Given the description of an element on the screen output the (x, y) to click on. 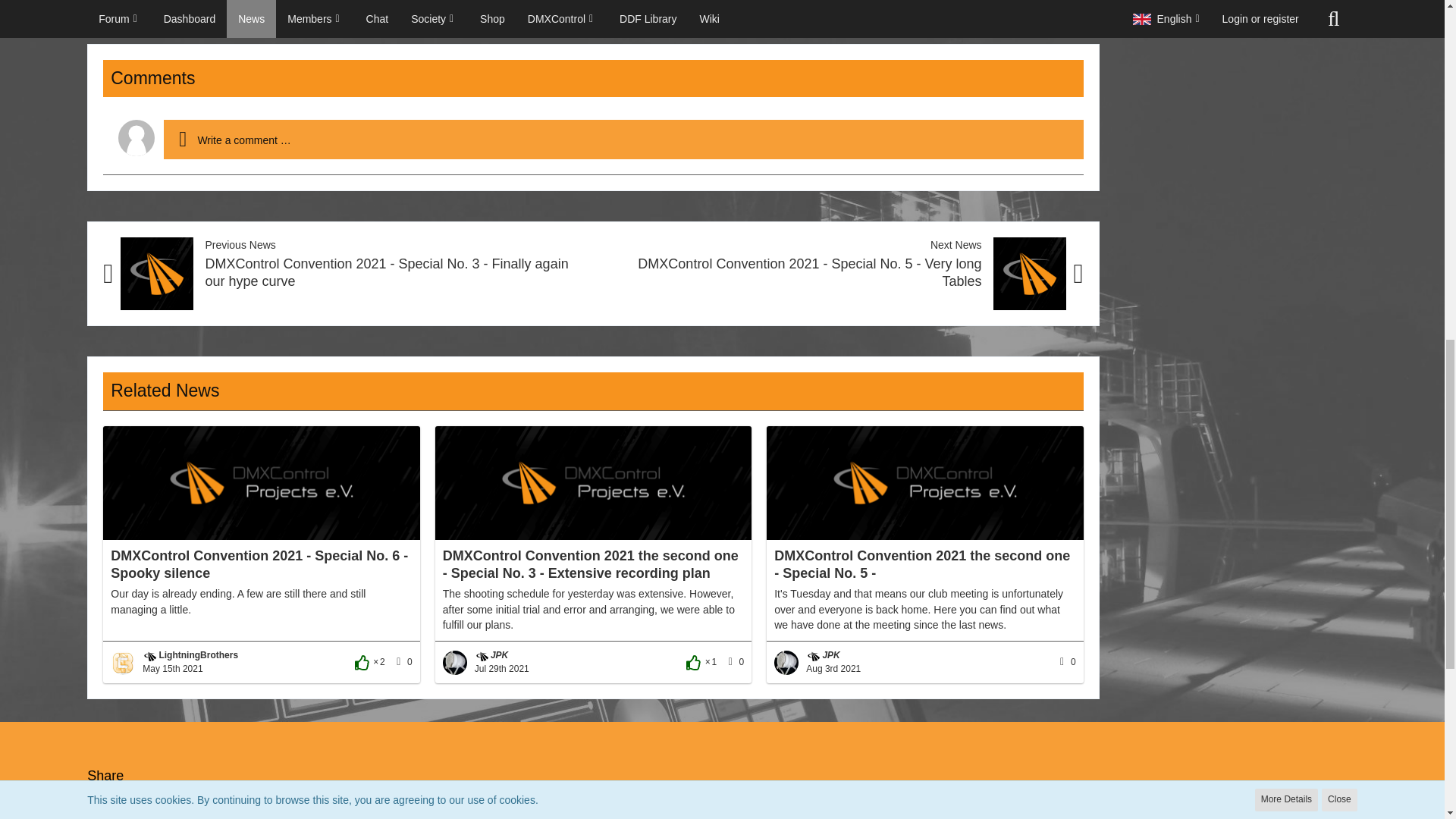
LinkedIn (413, 809)
WhatsApp (316, 809)
Twitter (225, 809)
Pinterest (505, 809)
Facebook (133, 809)
